Given the description of an element on the screen output the (x, y) to click on. 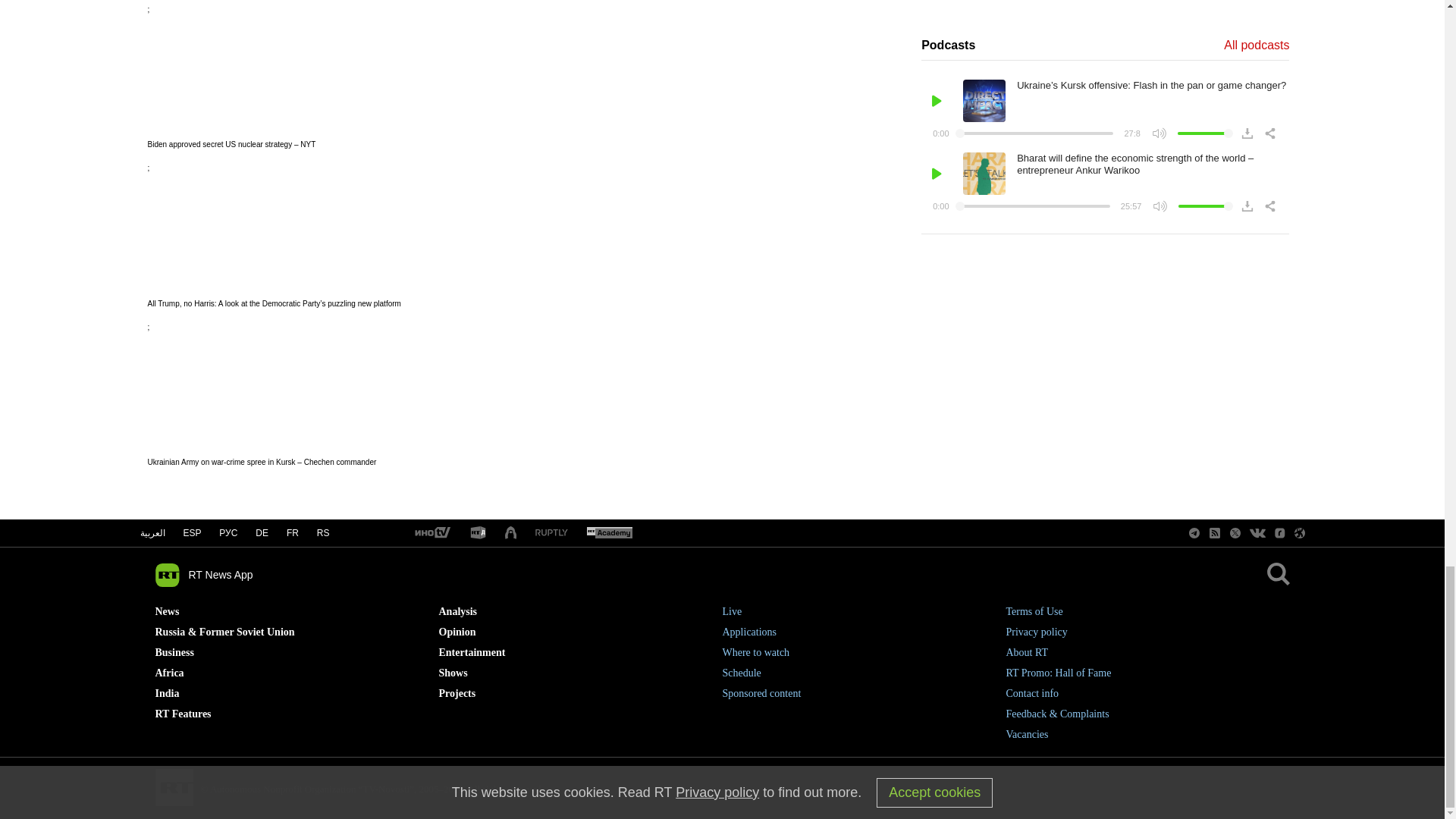
RT  (551, 533)
RT  (608, 533)
RT  (431, 533)
RT  (478, 533)
